Given the description of an element on the screen output the (x, y) to click on. 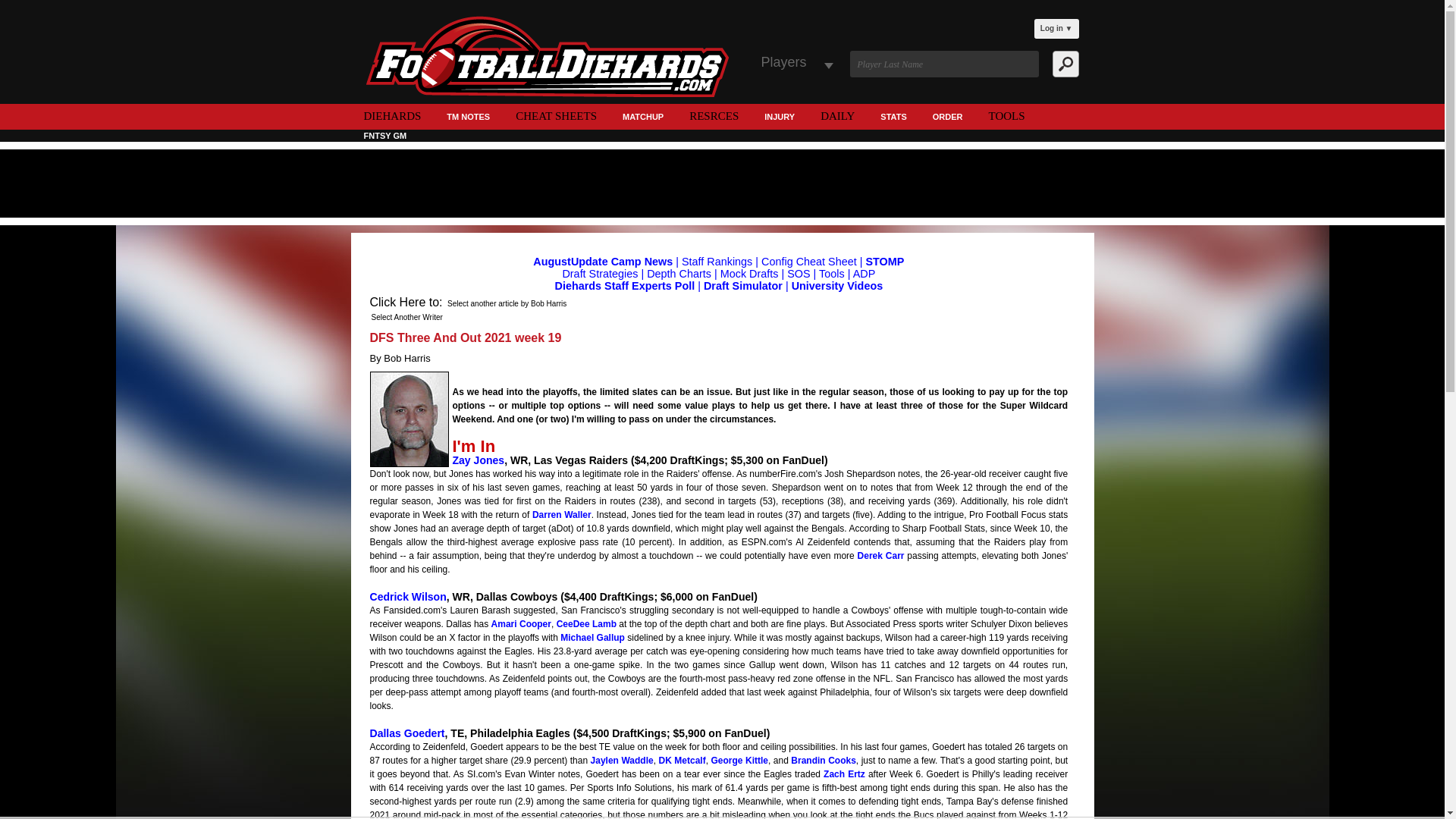
Cheat Sheets (555, 115)
Tm Notes (467, 117)
CHEAT SHEETS (555, 115)
DIEHARDS (392, 115)
TM NOTES (467, 117)
RESRCES (713, 115)
Resrces (713, 115)
Matchup (643, 117)
MATCHUP (643, 117)
Diehards (392, 115)
